Given the description of an element on the screen output the (x, y) to click on. 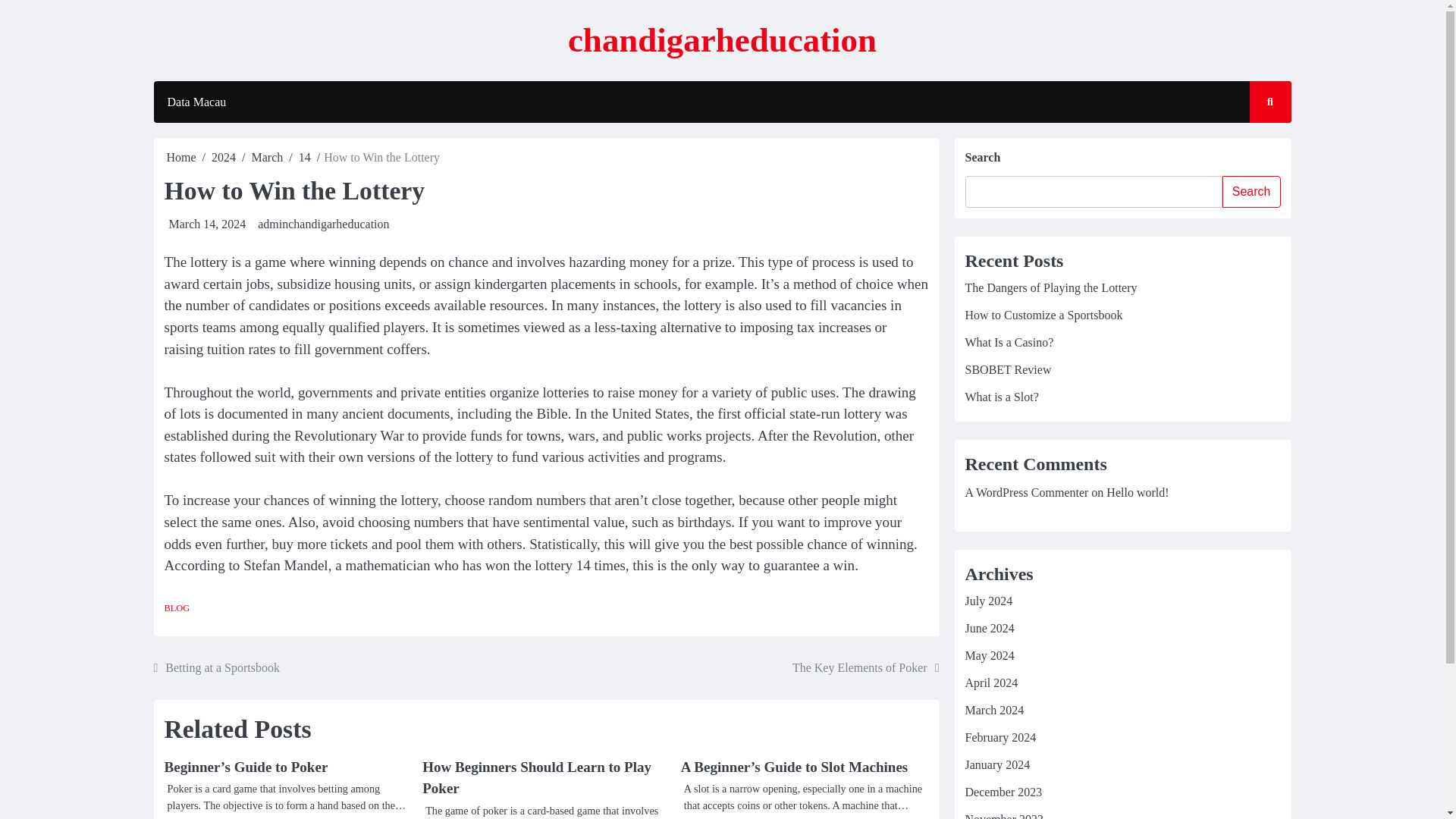
April 2024 (990, 682)
November 2023 (1003, 816)
How Beginners Should Learn to Play Poker (536, 777)
February 2024 (999, 737)
adminchandigarheducation (322, 223)
July 2024 (987, 600)
The Key Elements of Poker (865, 668)
March (267, 156)
January 2024 (996, 764)
What Is a Casino? (1007, 341)
The Dangers of Playing the Lottery (1050, 287)
Home (181, 156)
May 2024 (988, 655)
December 2023 (1002, 791)
March 2024 (993, 709)
